Given the description of an element on the screen output the (x, y) to click on. 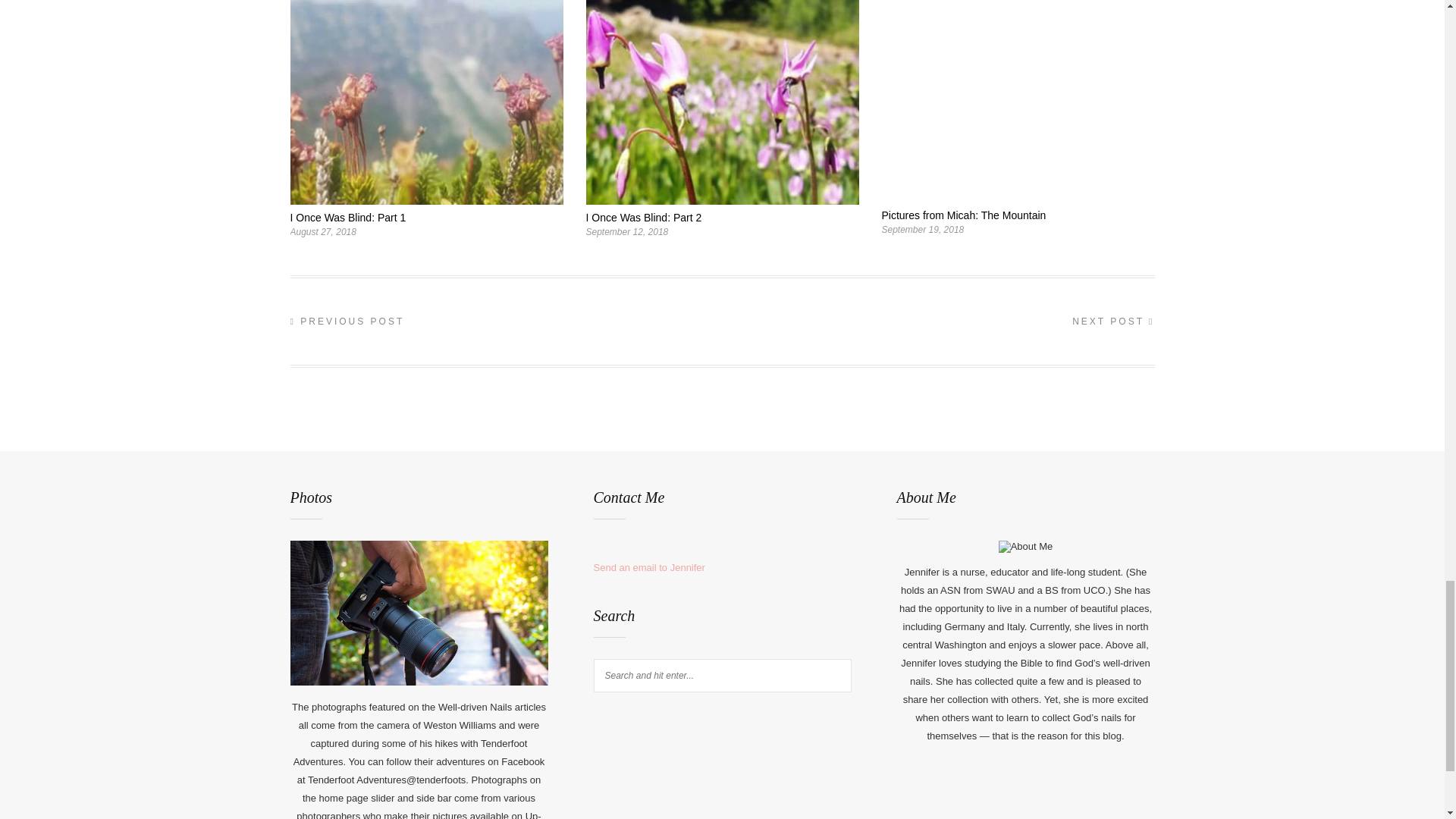
PREVIOUS POST (346, 321)
I Once Was Blind: Part 1 (347, 217)
NEXT POST (1112, 321)
Send an email to Jennifer (648, 567)
Pictures from Micah: The Mountain (962, 215)
I Once Was Blind: Part 2 (643, 217)
